Given the description of an element on the screen output the (x, y) to click on. 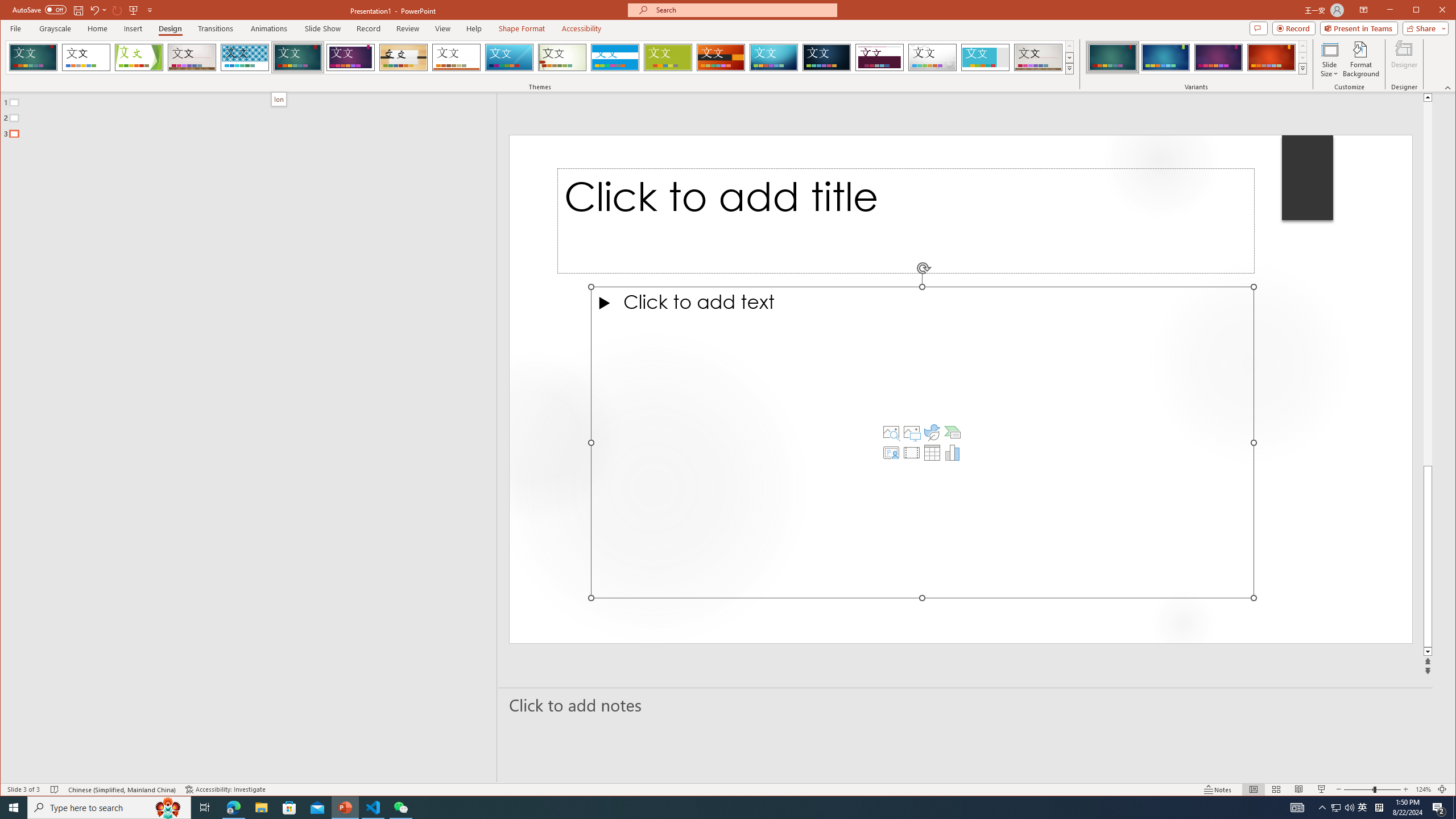
Insert Chart (952, 452)
Insert Video (911, 452)
Ion (278, 98)
Basis (668, 57)
